Given the description of an element on the screen output the (x, y) to click on. 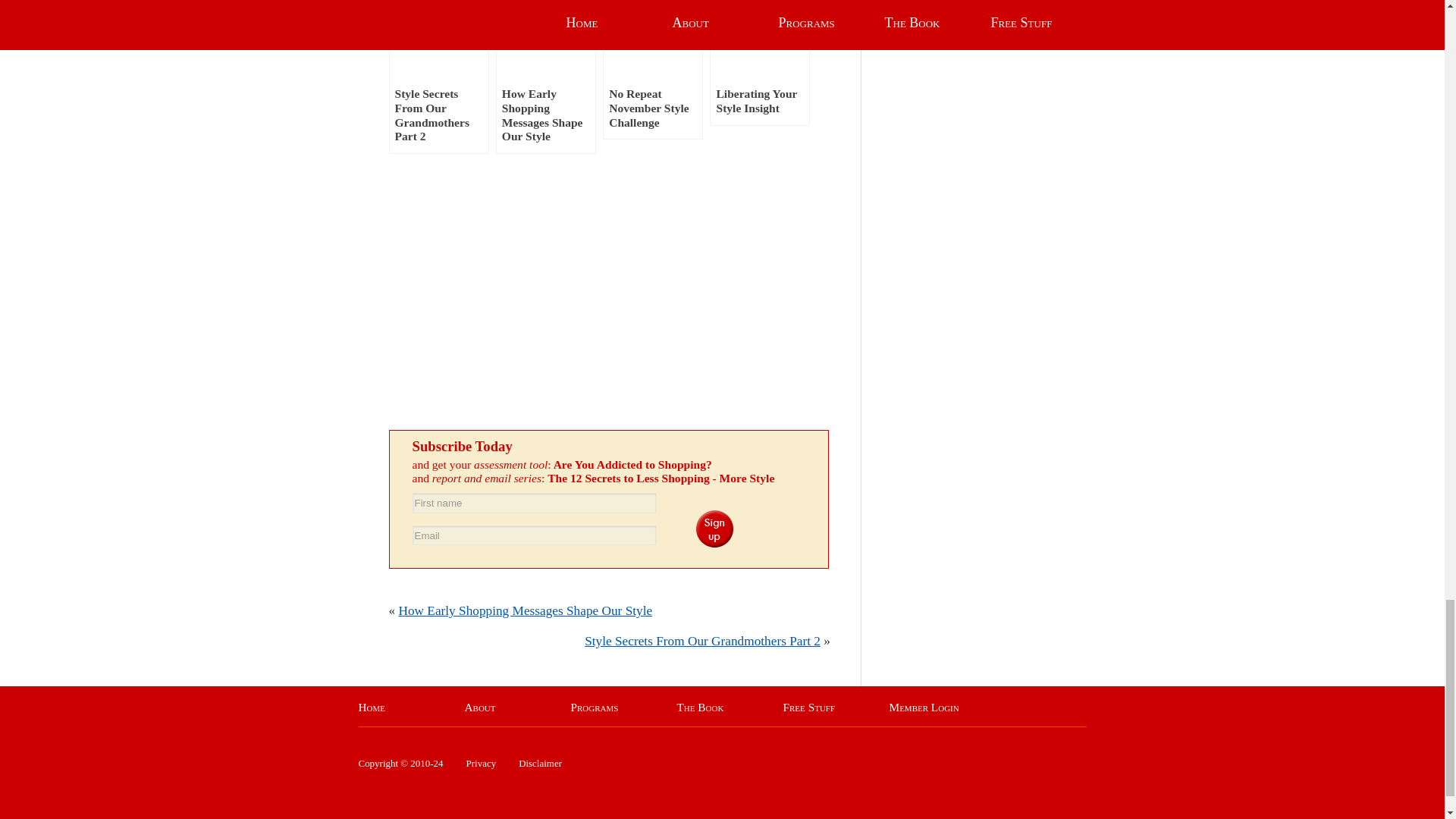
Sign Up (714, 527)
Facebook (504, 347)
Twitter (504, 229)
